Given the description of an element on the screen output the (x, y) to click on. 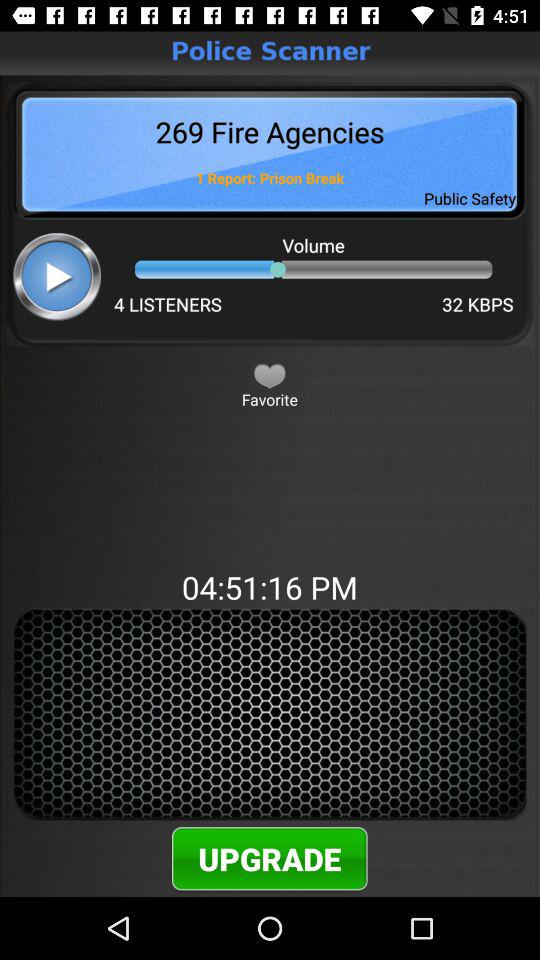
jump to the upgrade (269, 858)
